Given the description of an element on the screen output the (x, y) to click on. 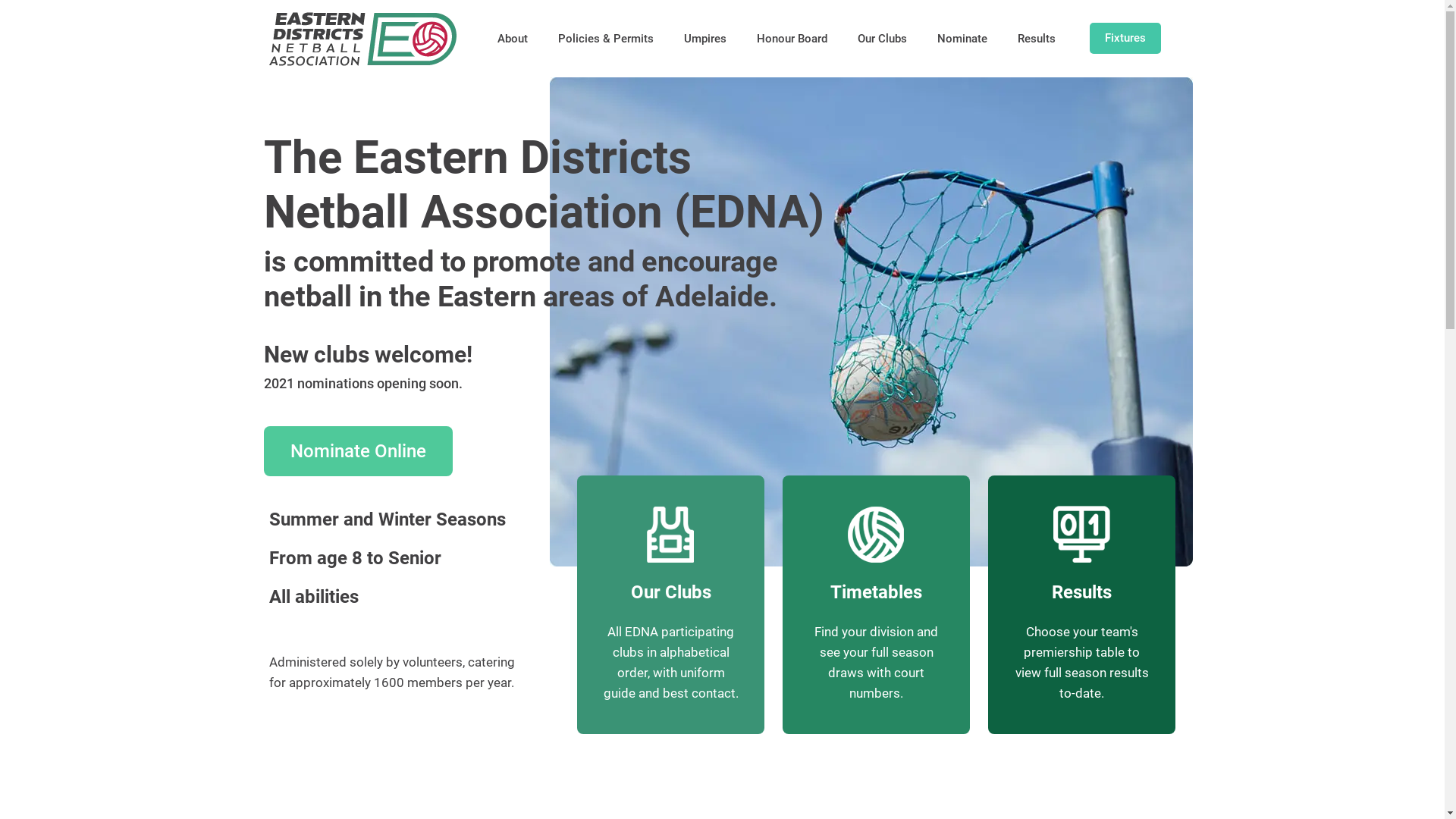
Nominate Online Element type: text (357, 451)
Honour Board Element type: text (791, 38)
Fixtures Element type: text (1124, 37)
Policies & Permits Element type: text (605, 38)
Umpires Element type: text (704, 38)
About Element type: text (512, 38)
Nominate Element type: text (962, 38)
Our Clubs Element type: text (881, 38)
Results Element type: text (1036, 38)
Eastern Districts Netball Association Inc. Element type: hover (362, 38)
